Given the description of an element on the screen output the (x, y) to click on. 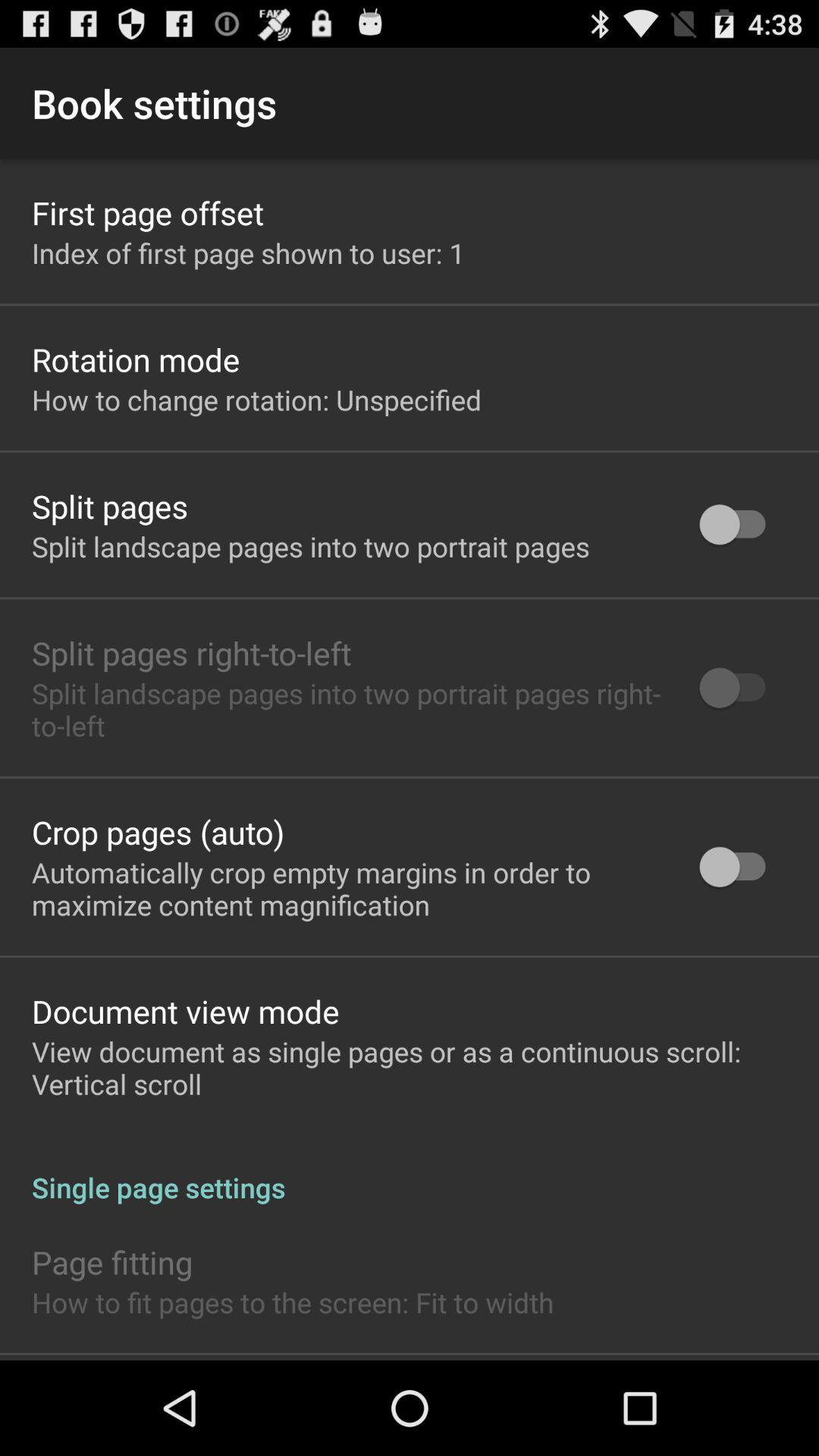
choose icon below the split landscape pages app (157, 831)
